Given the description of an element on the screen output the (x, y) to click on. 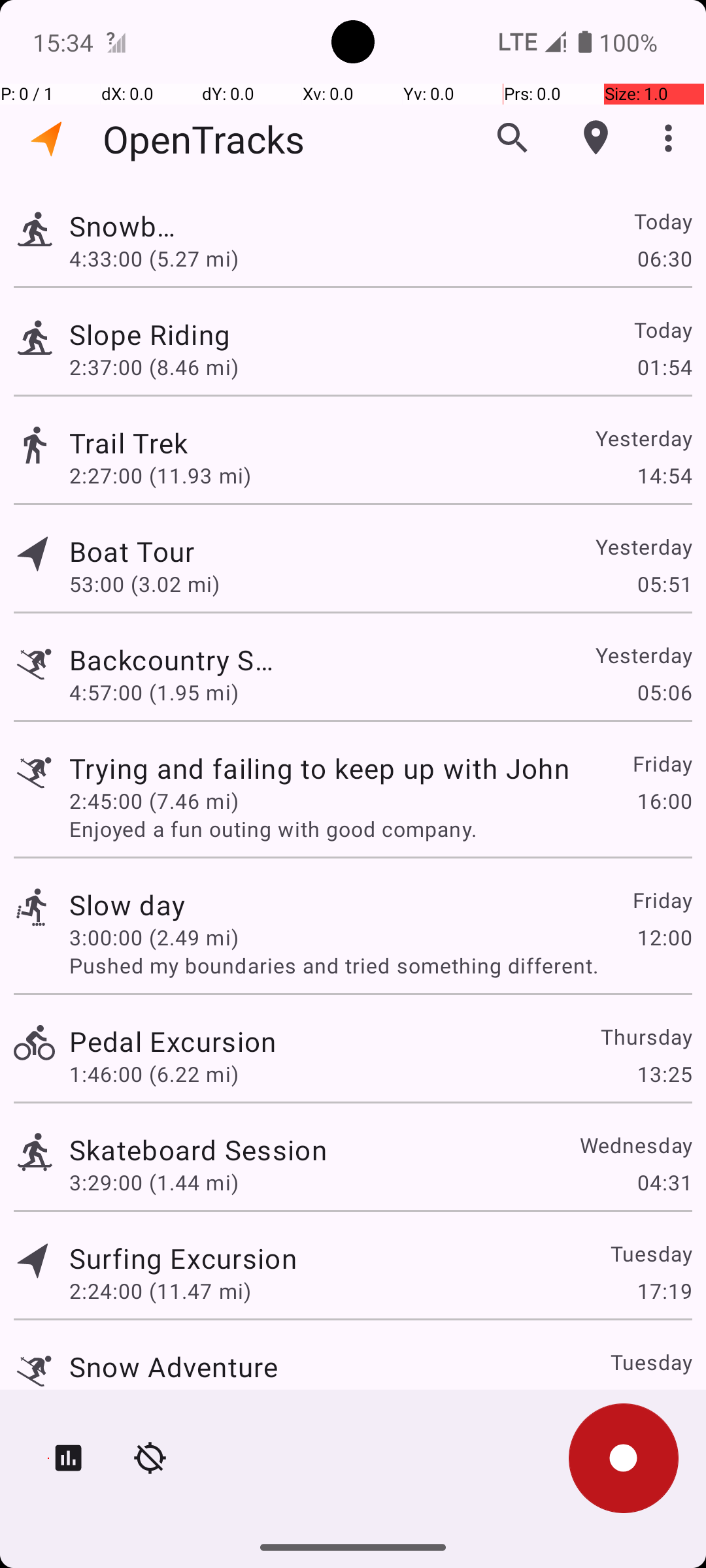
Snowboard Challenge Element type: android.widget.TextView (126, 225)
4:33:00 (5.27 mi) Element type: android.widget.TextView (153, 258)
06:30 Element type: android.widget.TextView (664, 258)
Slope Riding Element type: android.widget.TextView (172, 333)
2:37:00 (8.46 mi) Element type: android.widget.TextView (153, 366)
01:54 Element type: android.widget.TextView (664, 366)
Trail Trek Element type: android.widget.TextView (197, 442)
2:27:00 (11.93 mi) Element type: android.widget.TextView (159, 475)
14:54 Element type: android.widget.TextView (664, 475)
Boat Tour Element type: android.widget.TextView (182, 550)
53:00 (3.02 mi) Element type: android.widget.TextView (159, 583)
05:51 Element type: android.widget.TextView (664, 583)
Backcountry Skiing Element type: android.widget.TextView (173, 659)
4:57:00 (1.95 mi) Element type: android.widget.TextView (153, 692)
05:06 Element type: android.widget.TextView (664, 692)
Trying and failing to keep up with John Element type: android.widget.TextView (319, 767)
2:45:00 (7.46 mi) Element type: android.widget.TextView (153, 800)
Enjoyed a fun outing with good company. Element type: android.widget.TextView (380, 828)
Slow day Element type: android.widget.TextView (126, 904)
3:00:00 (2.49 mi) Element type: android.widget.TextView (153, 937)
Pushed my boundaries and tried something different. Element type: android.widget.TextView (380, 965)
Pedal Excursion Element type: android.widget.TextView (172, 1040)
1:46:00 (6.22 mi) Element type: android.widget.TextView (153, 1073)
13:25 Element type: android.widget.TextView (664, 1073)
Skateboard Session Element type: android.widget.TextView (197, 1149)
3:29:00 (1.44 mi) Element type: android.widget.TextView (153, 1182)
04:31 Element type: android.widget.TextView (664, 1182)
Surfing Excursion Element type: android.widget.TextView (182, 1257)
2:24:00 (11.47 mi) Element type: android.widget.TextView (159, 1290)
17:19 Element type: android.widget.TextView (664, 1290)
Snow Adventure Element type: android.widget.TextView (173, 1366)
2:29:00 (3.59 mi) Element type: android.widget.TextView (153, 1399)
12:41 Element type: android.widget.TextView (664, 1399)
